Given the description of an element on the screen output the (x, y) to click on. 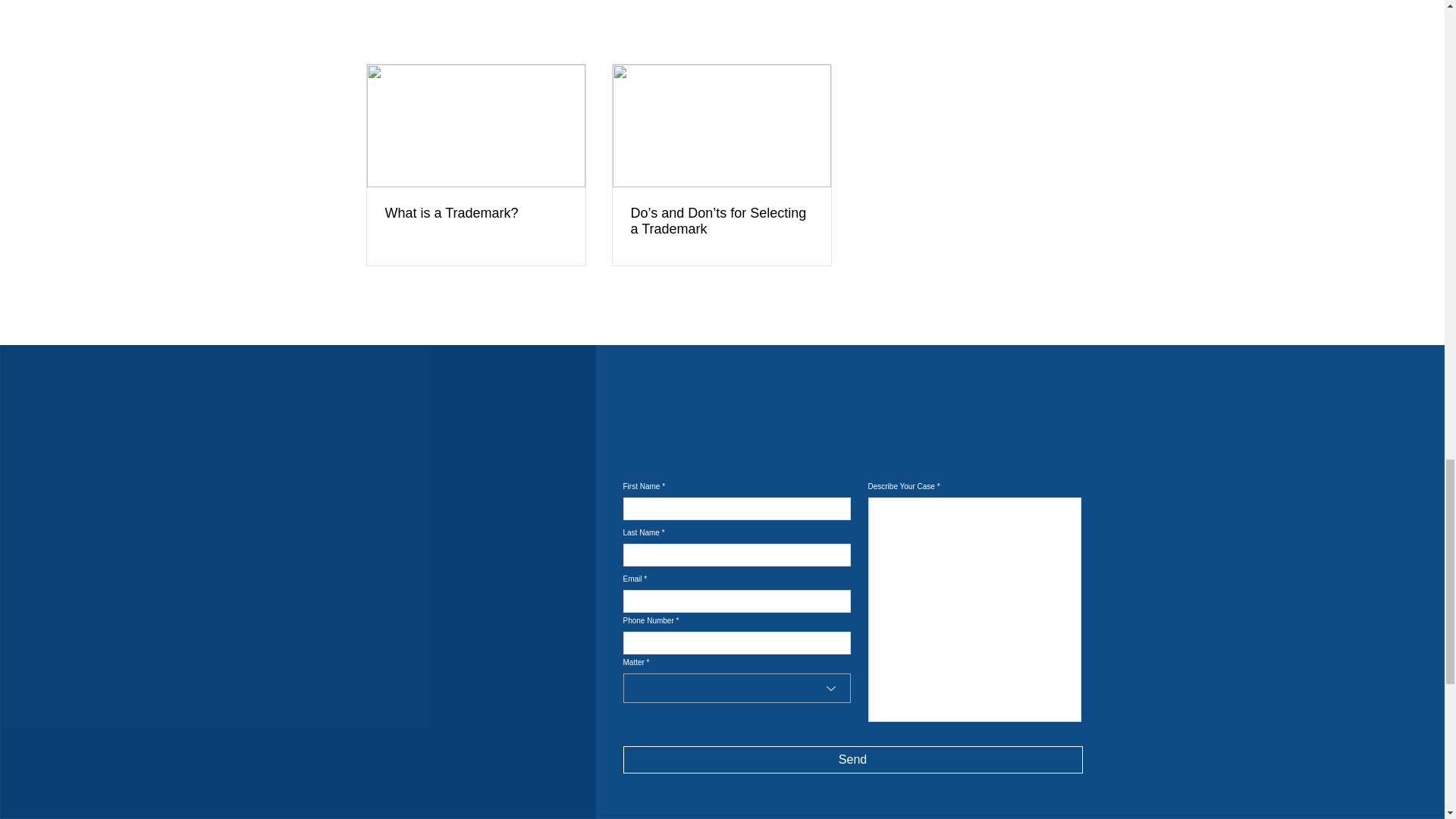
What is a Trademark? (476, 213)
See All (1061, 37)
Send (853, 759)
